Given the description of an element on the screen output the (x, y) to click on. 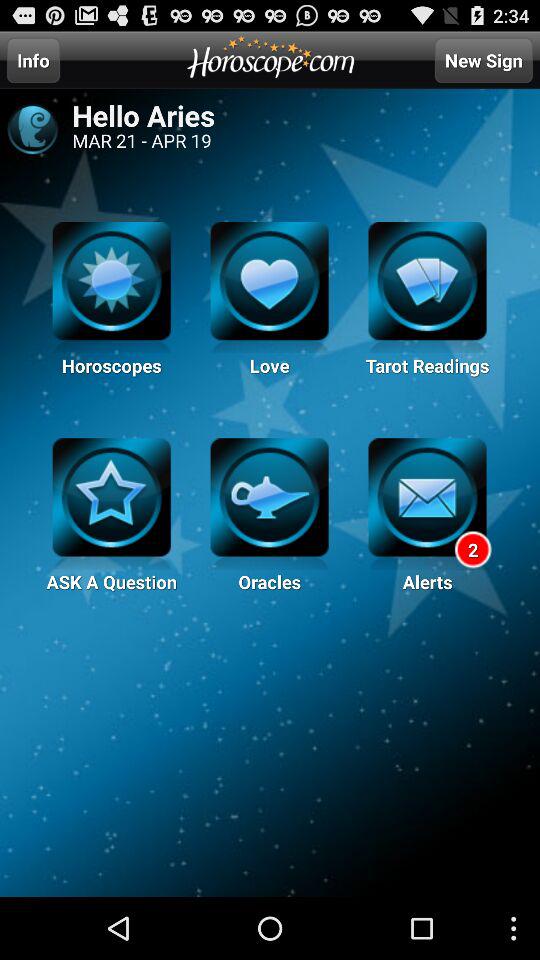
view alerts (427, 503)
